Given the description of an element on the screen output the (x, y) to click on. 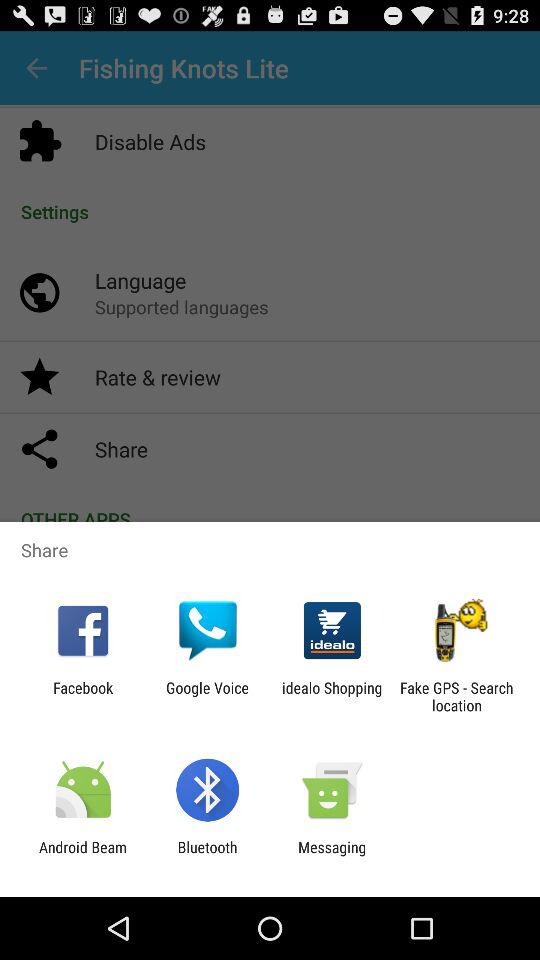
choose item to the right of the android beam app (207, 856)
